Given the description of an element on the screen output the (x, y) to click on. 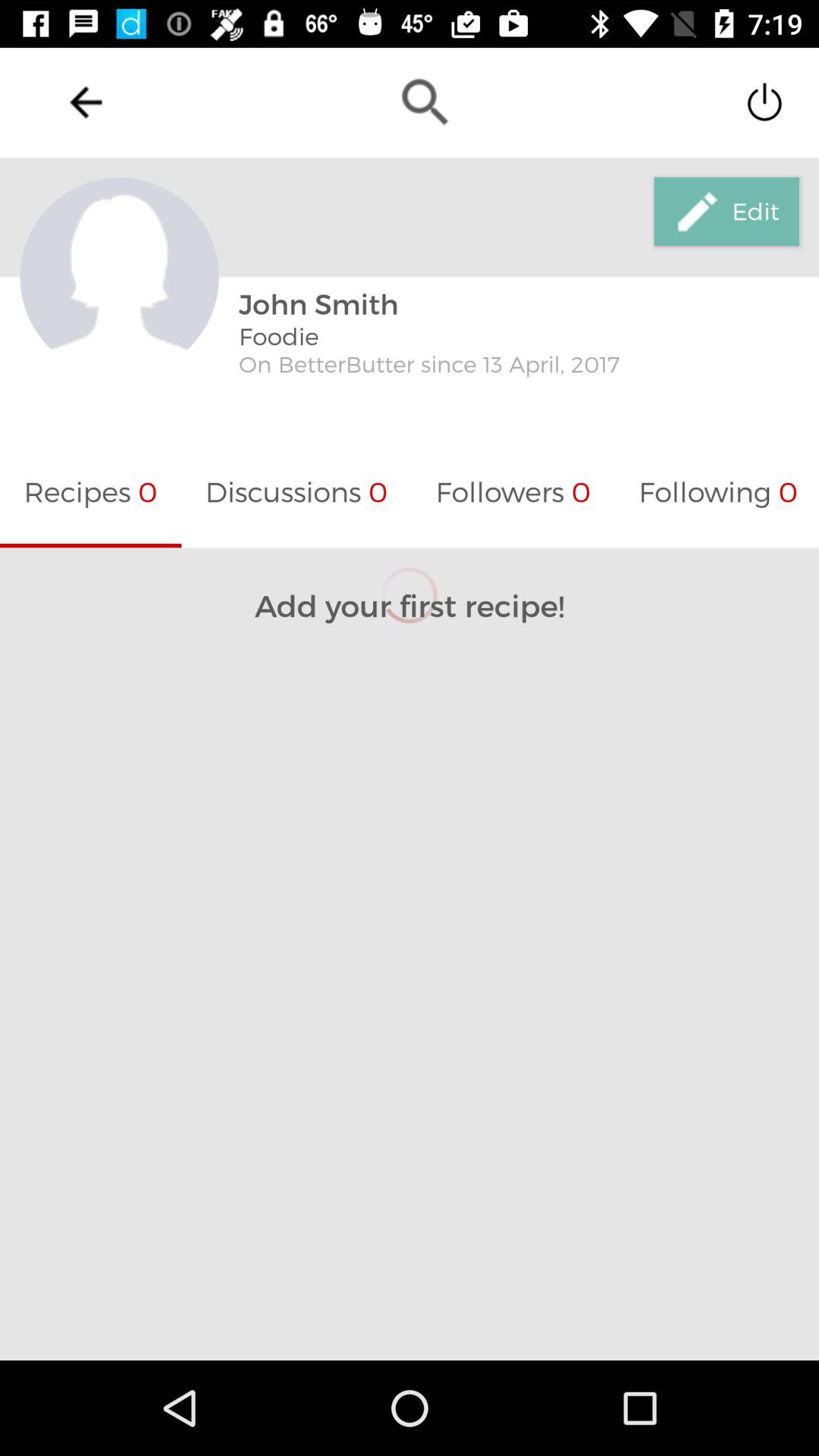
tap the item above john smith icon (424, 101)
